Given the description of an element on the screen output the (x, y) to click on. 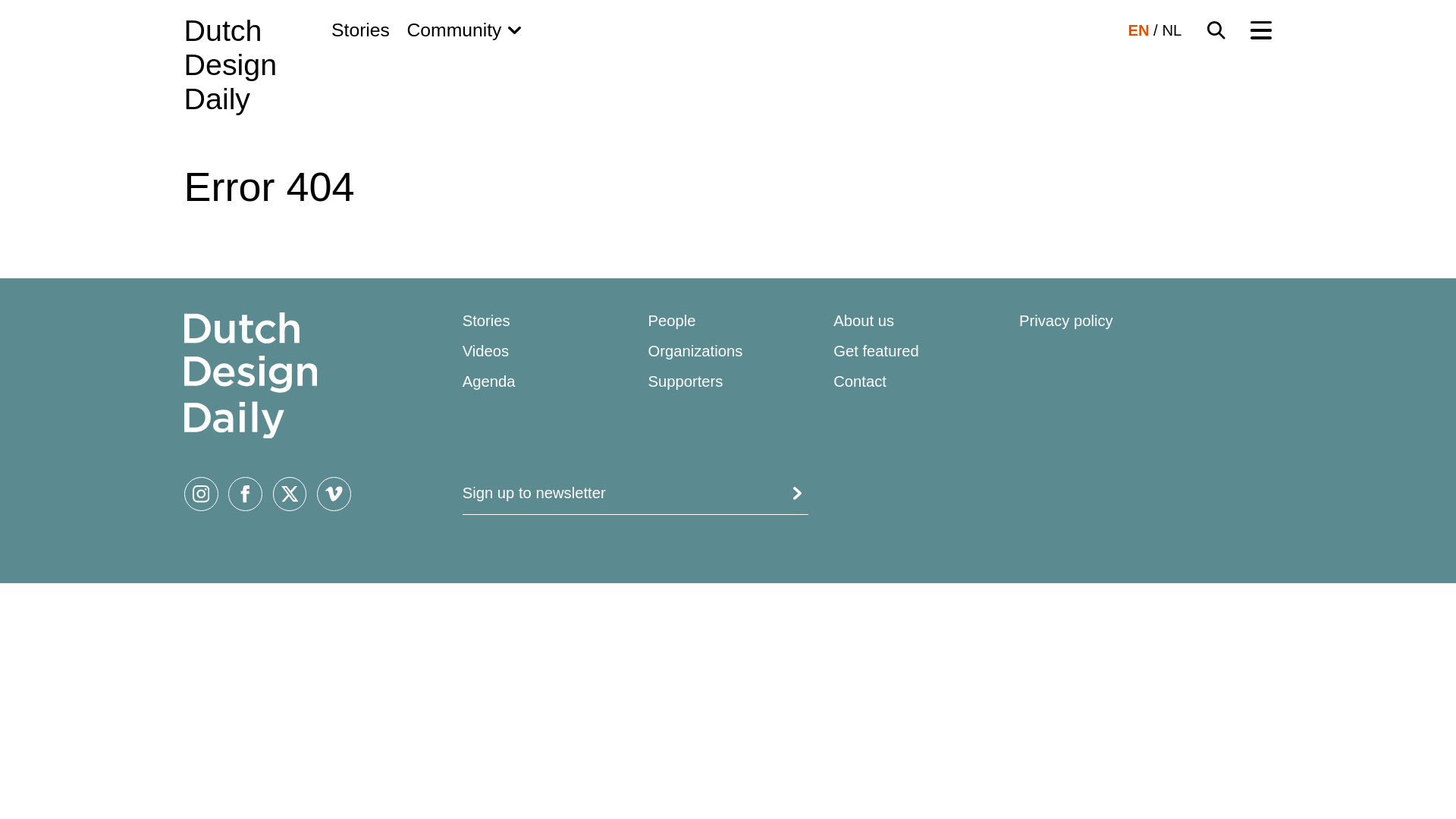
Stories (487, 320)
Contact (859, 381)
People (671, 320)
Get featured (875, 351)
Community (463, 30)
Organizations (230, 64)
NL (694, 351)
Privacy policy (1170, 30)
About us (1066, 320)
EN (862, 320)
Supporters (1137, 30)
Stories (684, 381)
Agenda (360, 30)
Videos (489, 381)
